Given the description of an element on the screen output the (x, y) to click on. 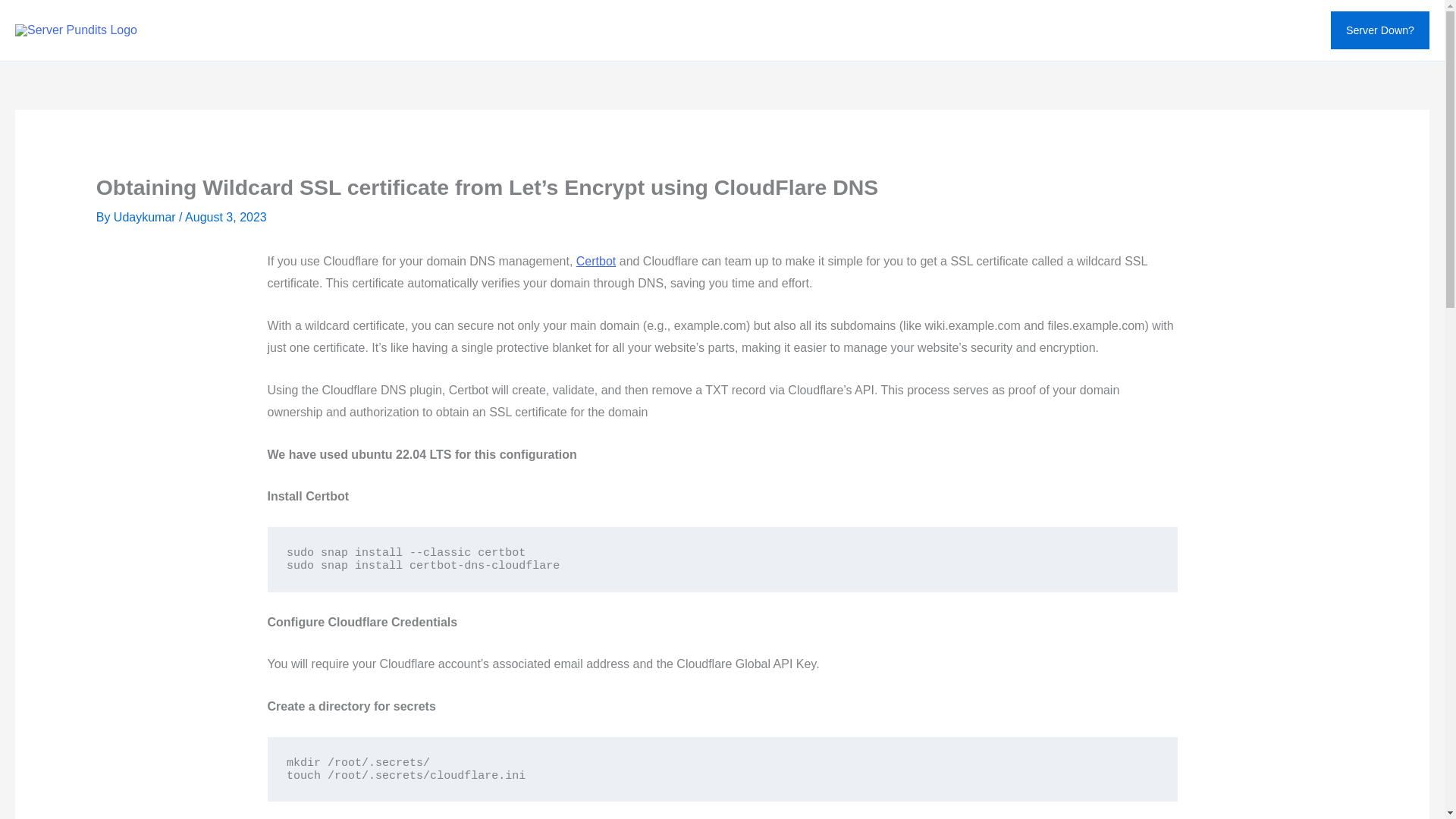
Udaykumar (146, 216)
Server Down? (1379, 30)
Software Development (534, 30)
Certbot (595, 260)
Cloud Consulting (784, 30)
View all posts by Udaykumar (146, 216)
Server Administration (912, 30)
DevOps Services (667, 30)
